Given the description of an element on the screen output the (x, y) to click on. 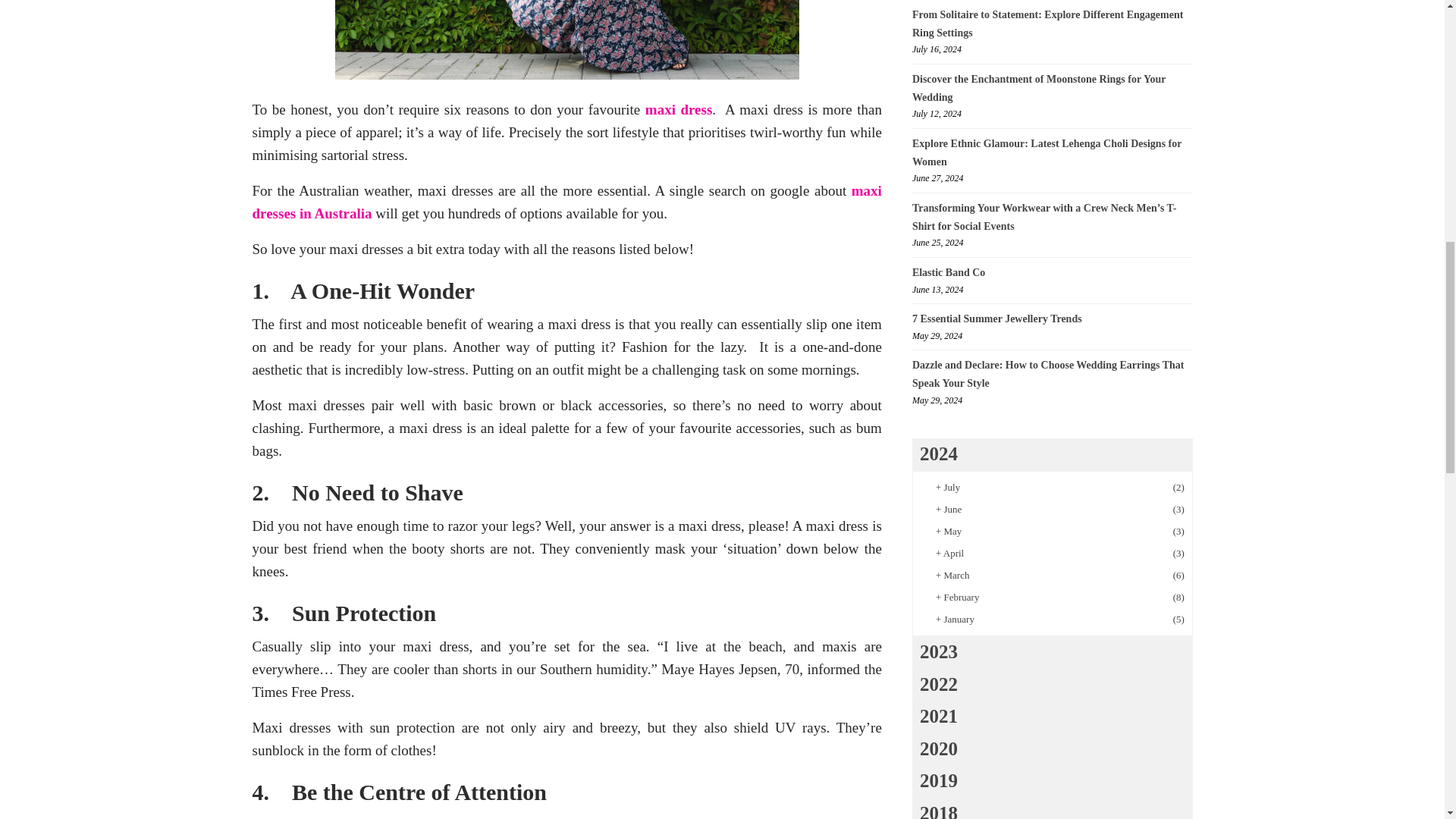
maxi dresses in Australia (565, 201)
maxi dress (679, 109)
